Given the description of an element on the screen output the (x, y) to click on. 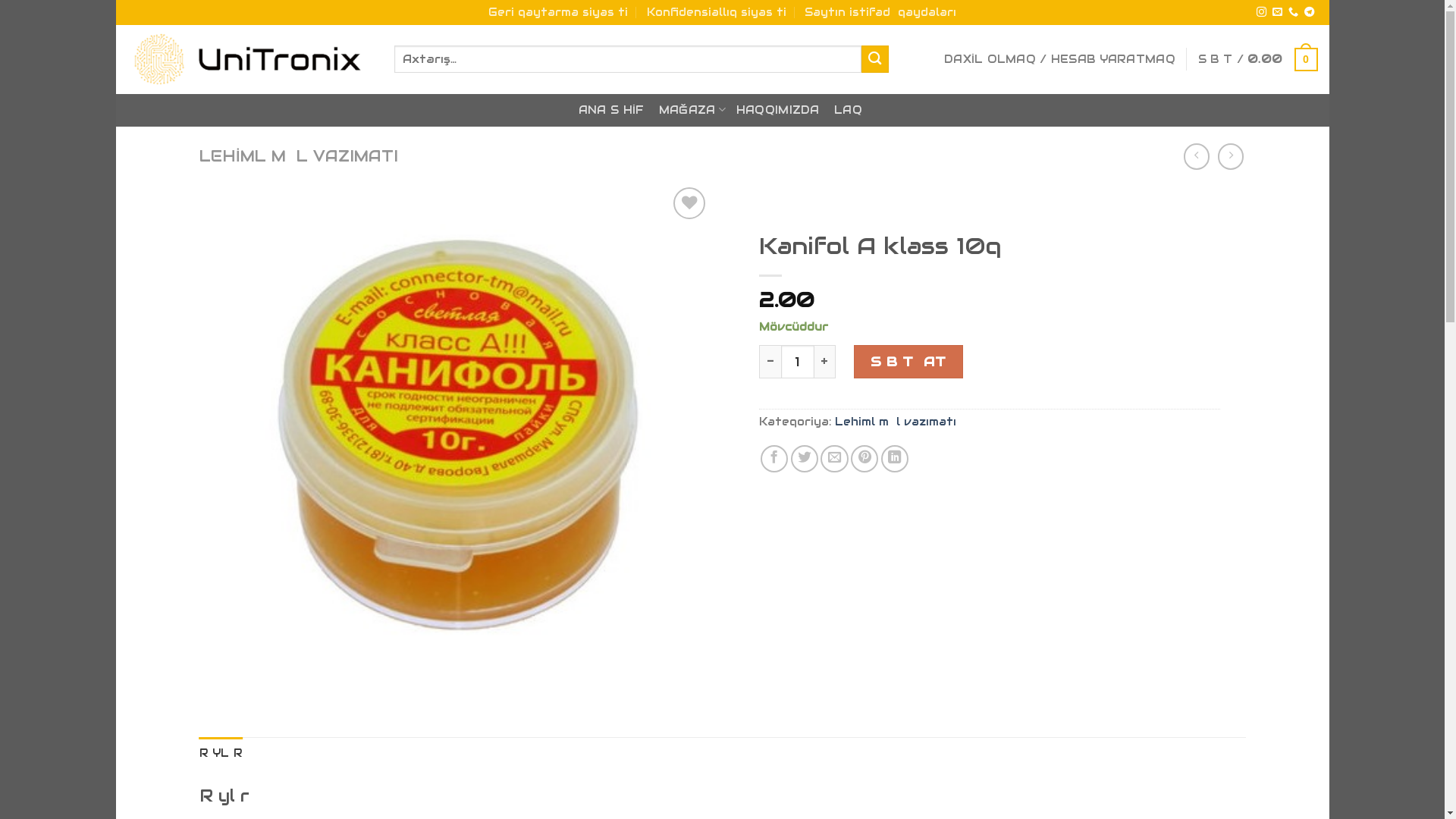
Email to a Friend Element type: hover (833, 458)
Share on Twitter Element type: hover (804, 458)
Share on Facebook Element type: hover (773, 458)
kanifol a class Element type: hover (454, 439)
DAXIL OLMAQ / HESAB YARATMAQ Element type: text (1059, 58)
HAQQIMIZDA Element type: text (777, 110)
Pin on Pinterest Element type: hover (864, 458)
Share on LinkedIn Element type: hover (894, 458)
